Given the description of an element on the screen output the (x, y) to click on. 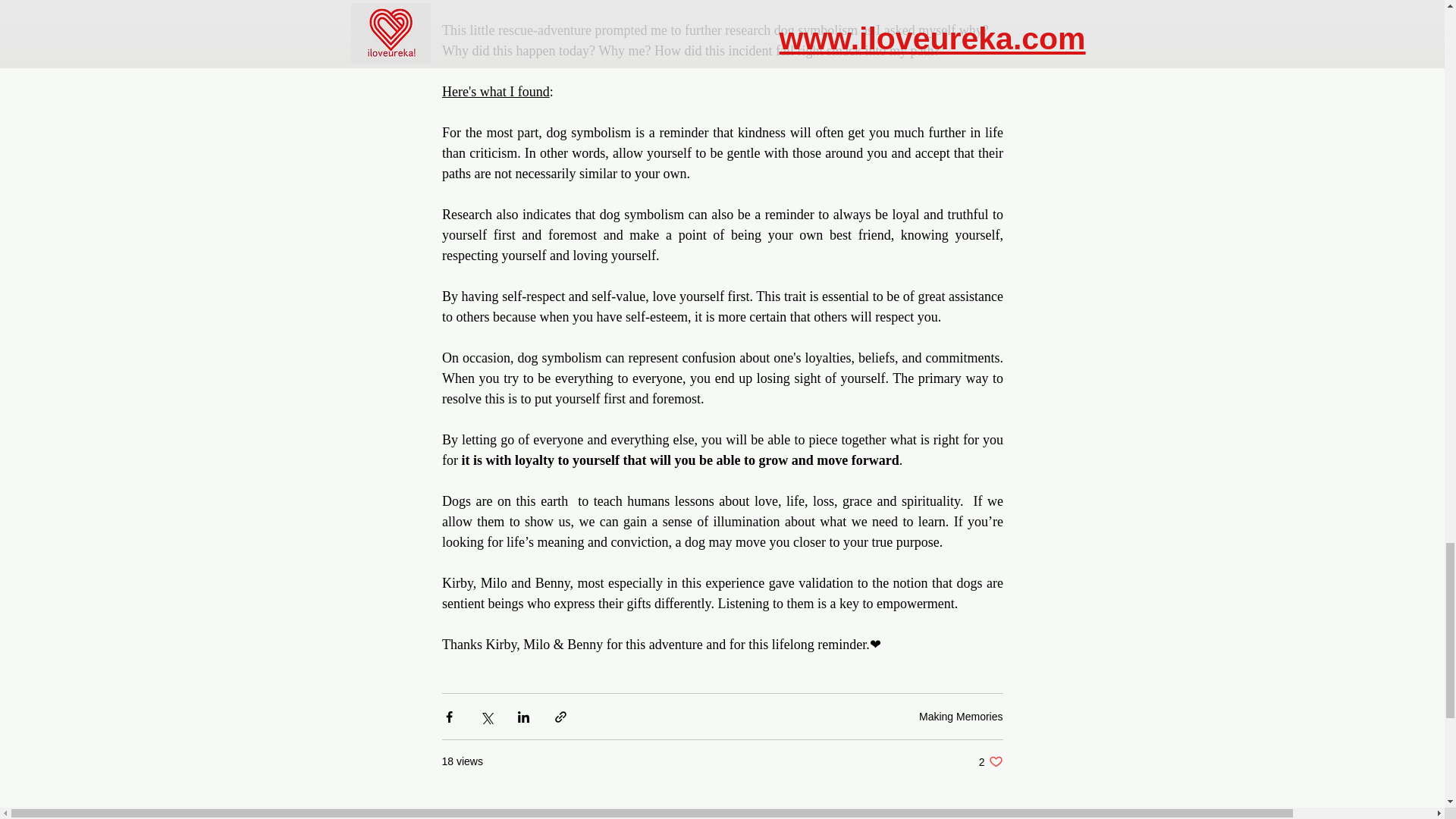
Making Memories (960, 716)
